Given the description of an element on the screen output the (x, y) to click on. 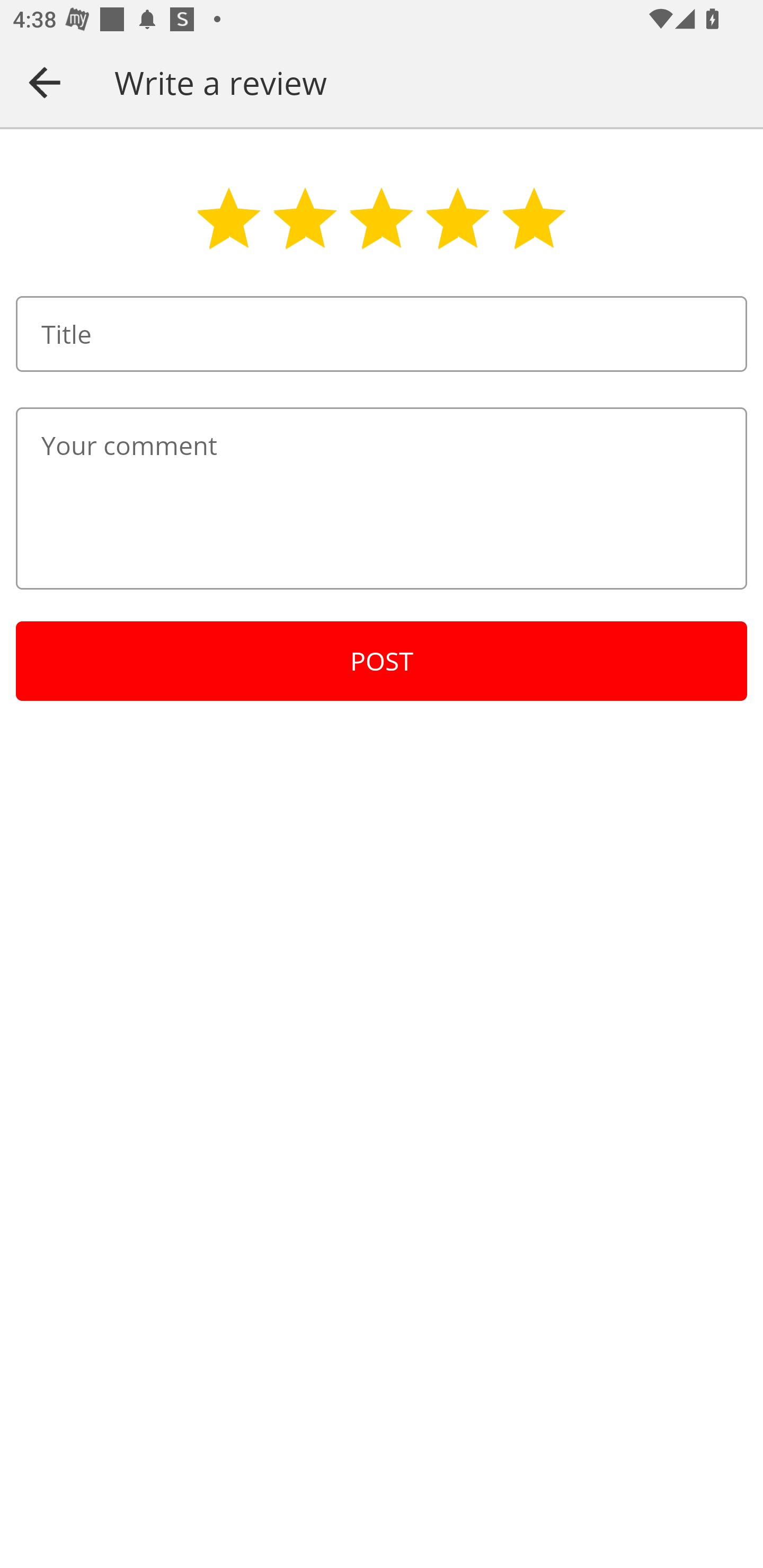
Navigate up (44, 82)
Title (381, 333)
Your comment (381, 498)
POST (381, 660)
